Given the description of an element on the screen output the (x, y) to click on. 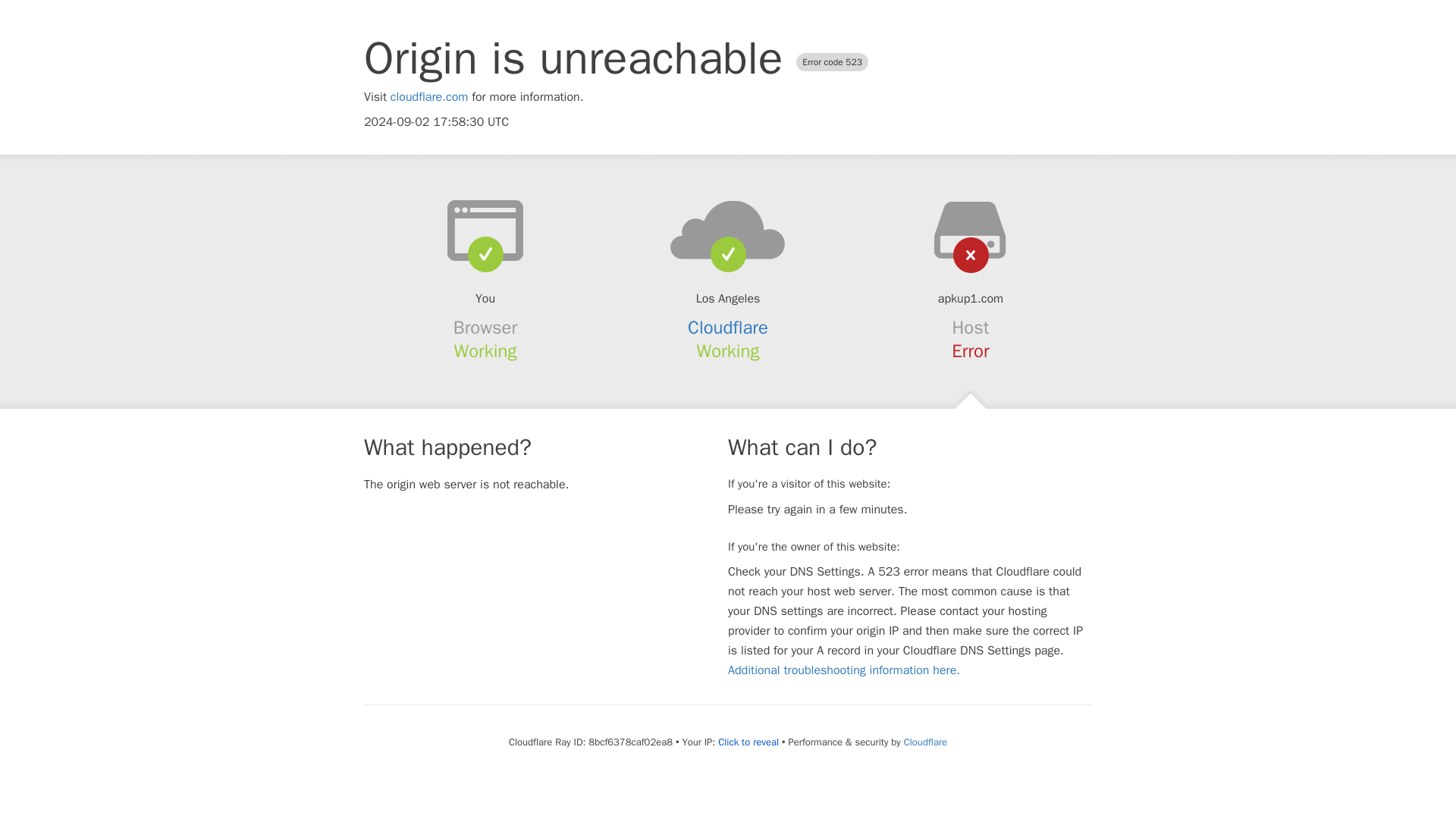
Cloudflare (925, 741)
Additional troubleshooting information here. (843, 670)
Click to reveal (747, 742)
Cloudflare (727, 327)
cloudflare.com (429, 96)
